Given the description of an element on the screen output the (x, y) to click on. 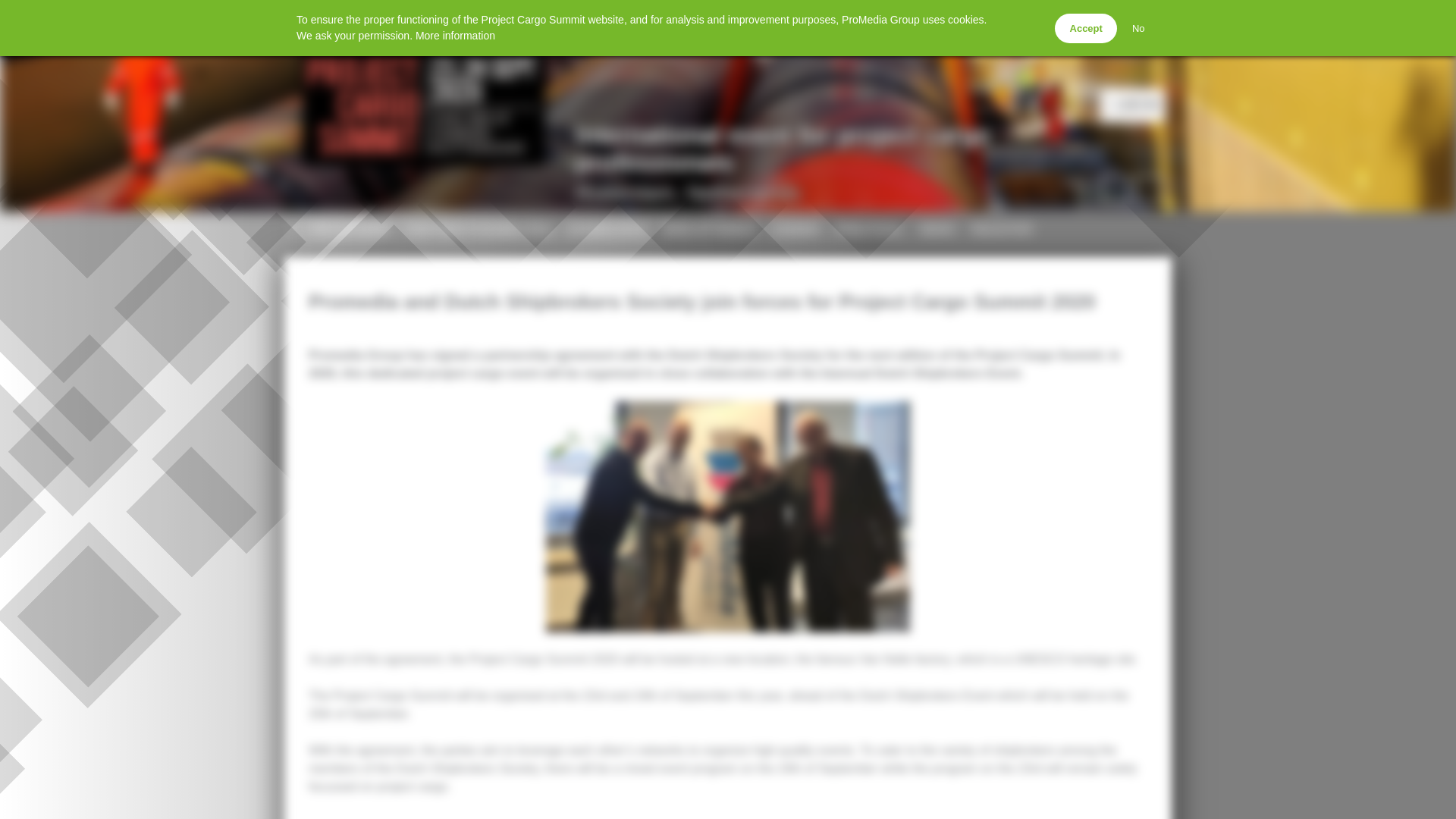
NEWS (936, 230)
PARTNER POSSIBILITIES (478, 230)
DOWNLOADS (607, 230)
LOG IN (870, 105)
More information (454, 35)
Accept (1132, 166)
DINNER (1085, 28)
LinkedIn (796, 230)
REGISTER (1115, 188)
PRACTICAL (1002, 230)
PROGRAMME (869, 230)
Facebook (350, 230)
LOG IN (1148, 188)
